Given the description of an element on the screen output the (x, y) to click on. 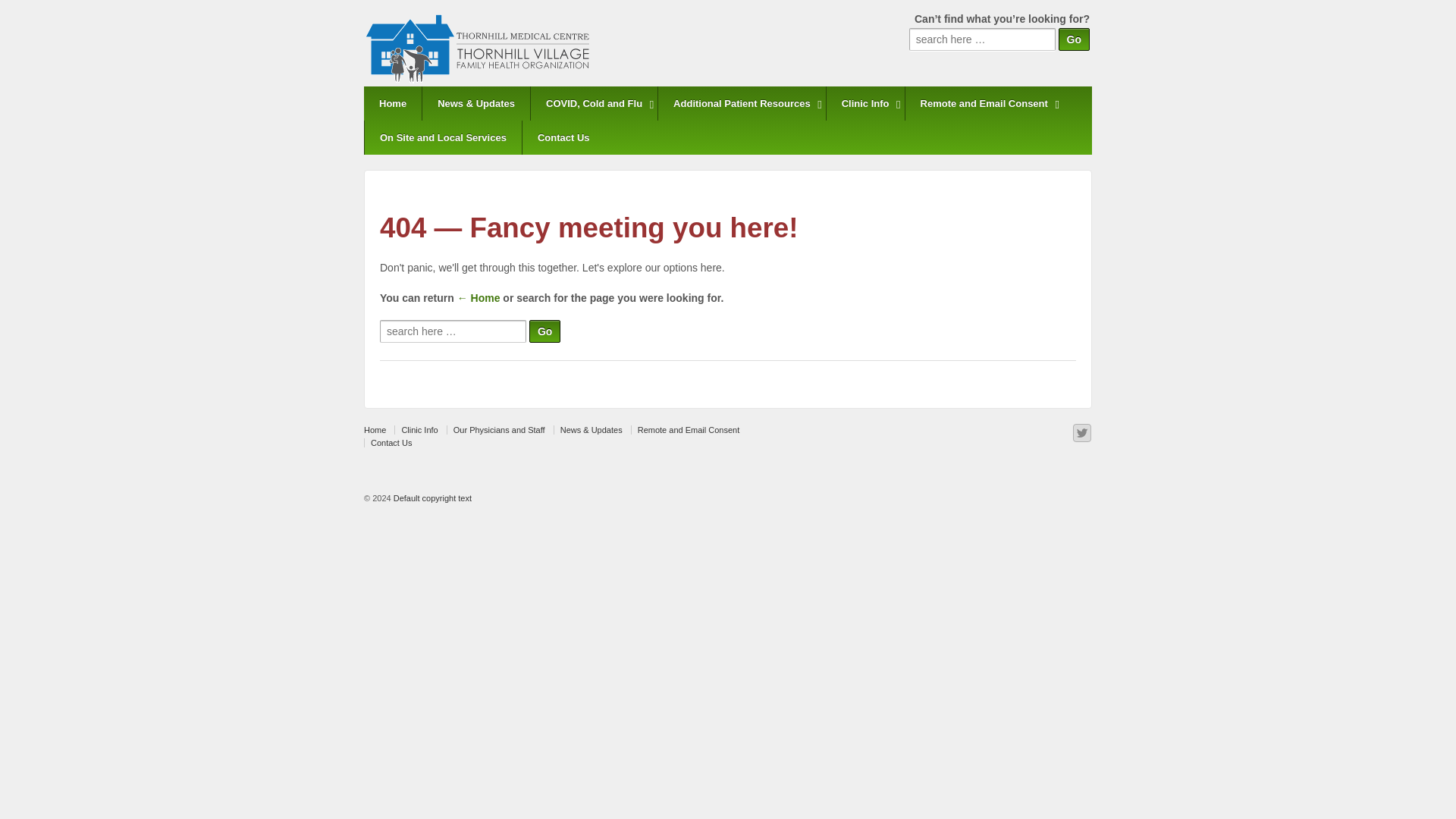
Go (1073, 38)
Contact Us (563, 137)
Go (1073, 38)
Home (393, 103)
Our Physicians and Staff (498, 429)
Clinic Info (864, 103)
Remote and Email Consent (983, 103)
COVID, Cold and Flu (593, 103)
Remote and Email Consent (687, 429)
Home (377, 429)
On Site and Local Services (442, 137)
Default copyright text (431, 497)
Contact Us (390, 442)
Home (478, 297)
Clinic Info (419, 429)
